Given the description of an element on the screen output the (x, y) to click on. 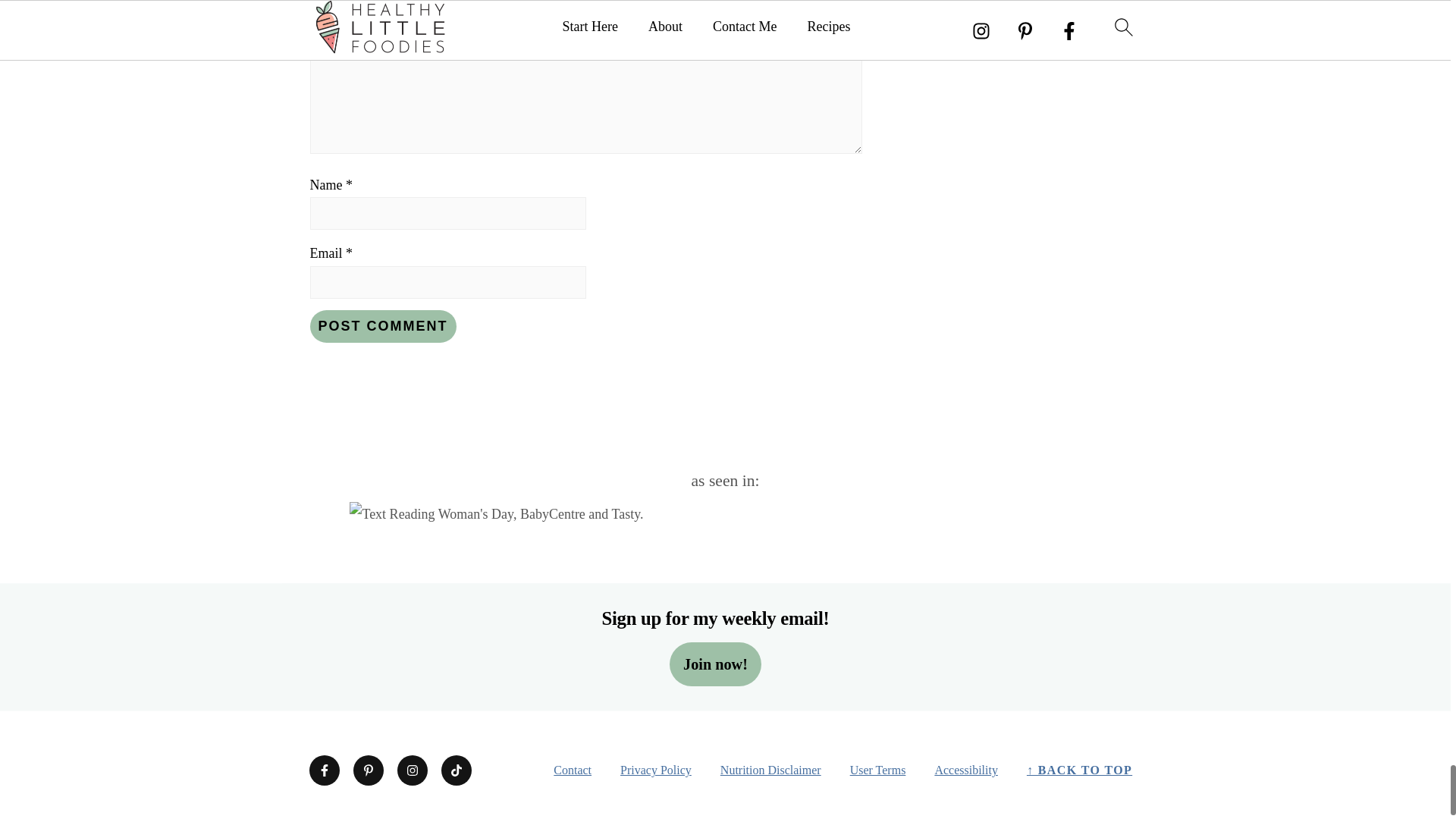
Post Comment (381, 326)
